Given the description of an element on the screen output the (x, y) to click on. 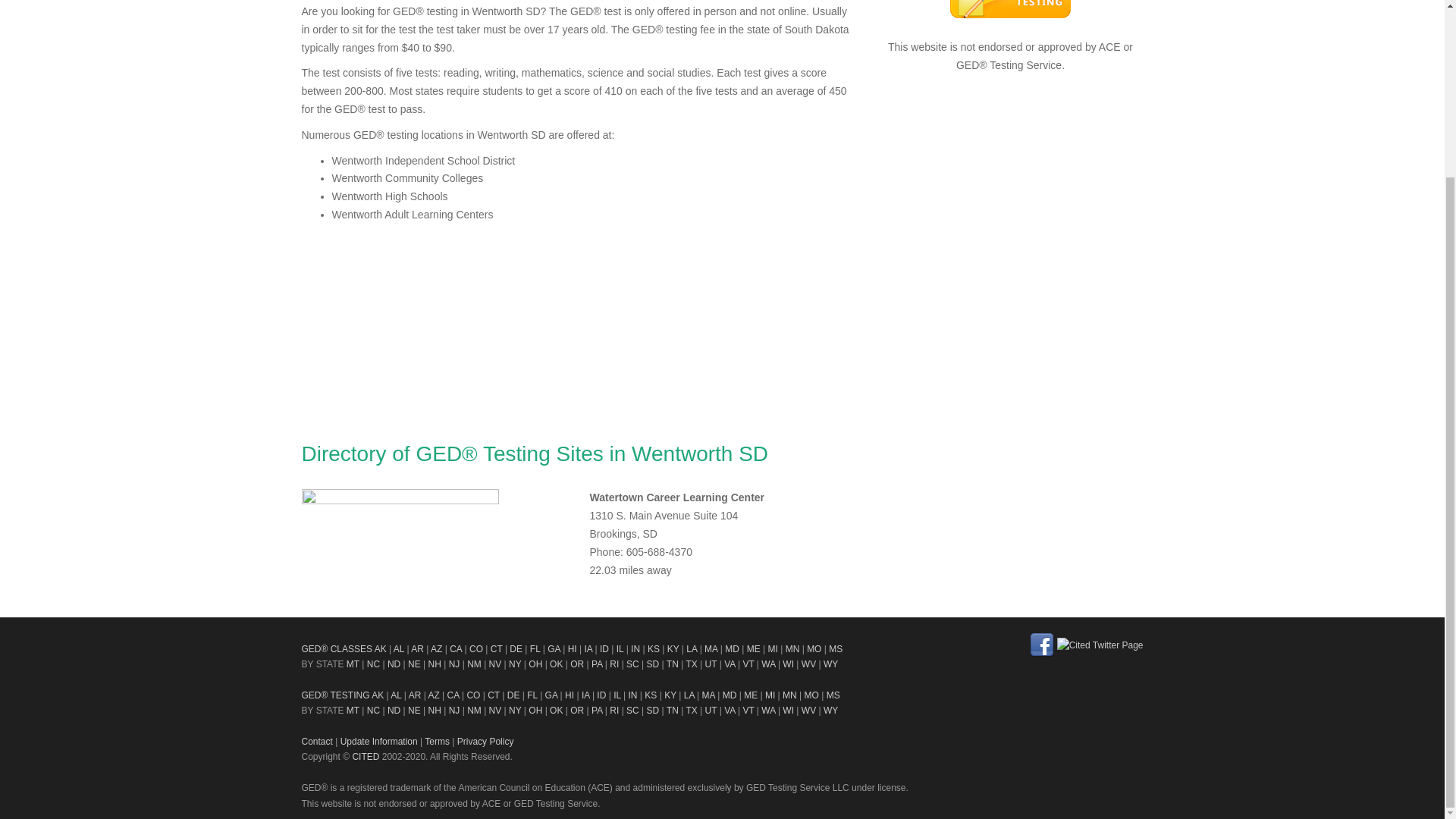
KS (653, 648)
FL (534, 648)
MO (813, 648)
CO (475, 648)
AL (398, 648)
MN (792, 648)
NH (434, 664)
MS (835, 648)
CT (496, 648)
DE (515, 648)
